Given the description of an element on the screen output the (x, y) to click on. 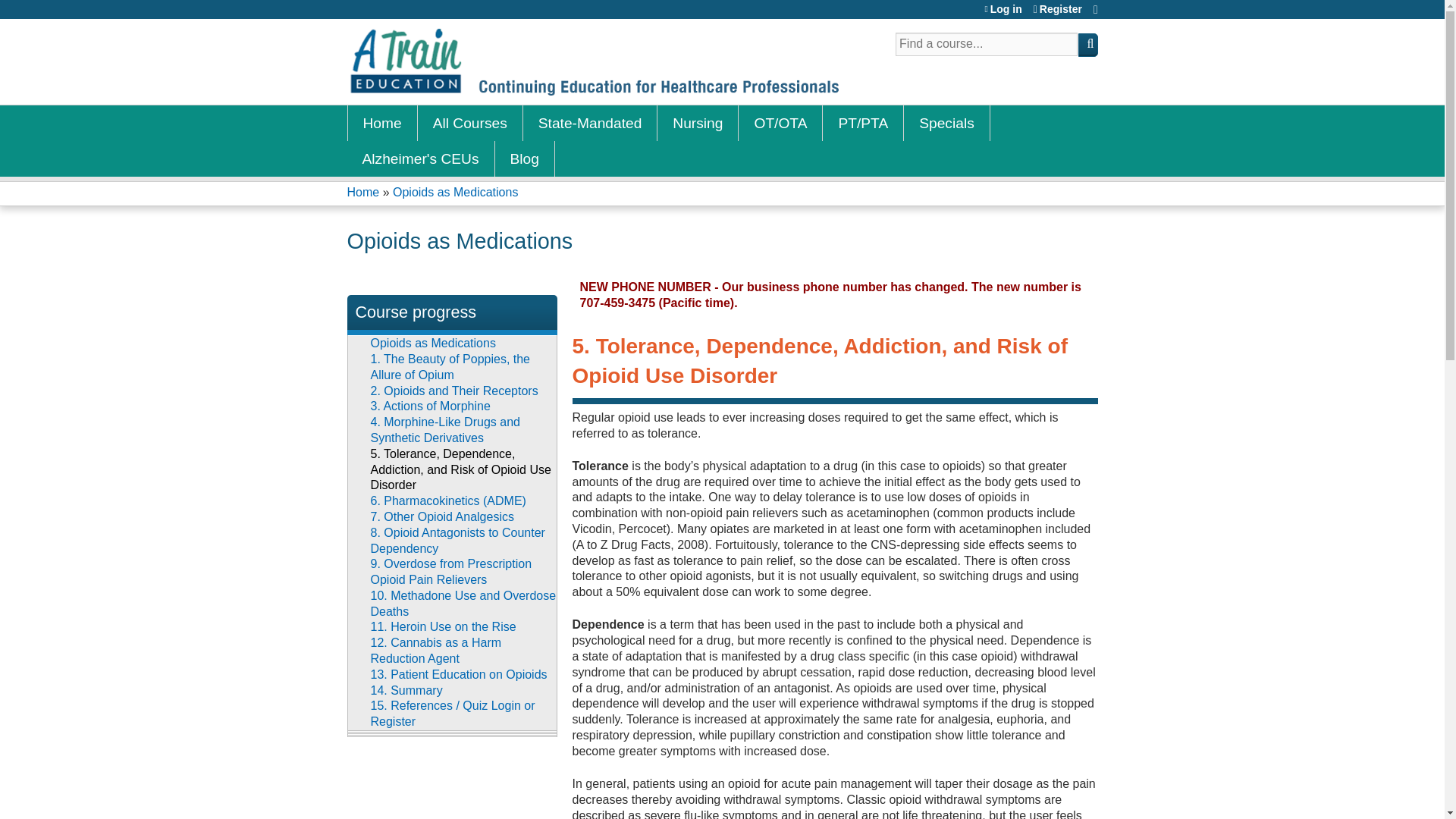
Specials (947, 122)
Nursing (698, 122)
Blog (524, 158)
Home (363, 192)
Home (593, 61)
3. Actions of Morphine (429, 405)
Home (382, 122)
State-Mandated (590, 122)
Log in (1003, 9)
Opioids as Medications (455, 192)
4. Morphine-Like Drugs and Synthetic Derivatives (444, 429)
Alzheimer's CEUs (421, 158)
